Given the description of an element on the screen output the (x, y) to click on. 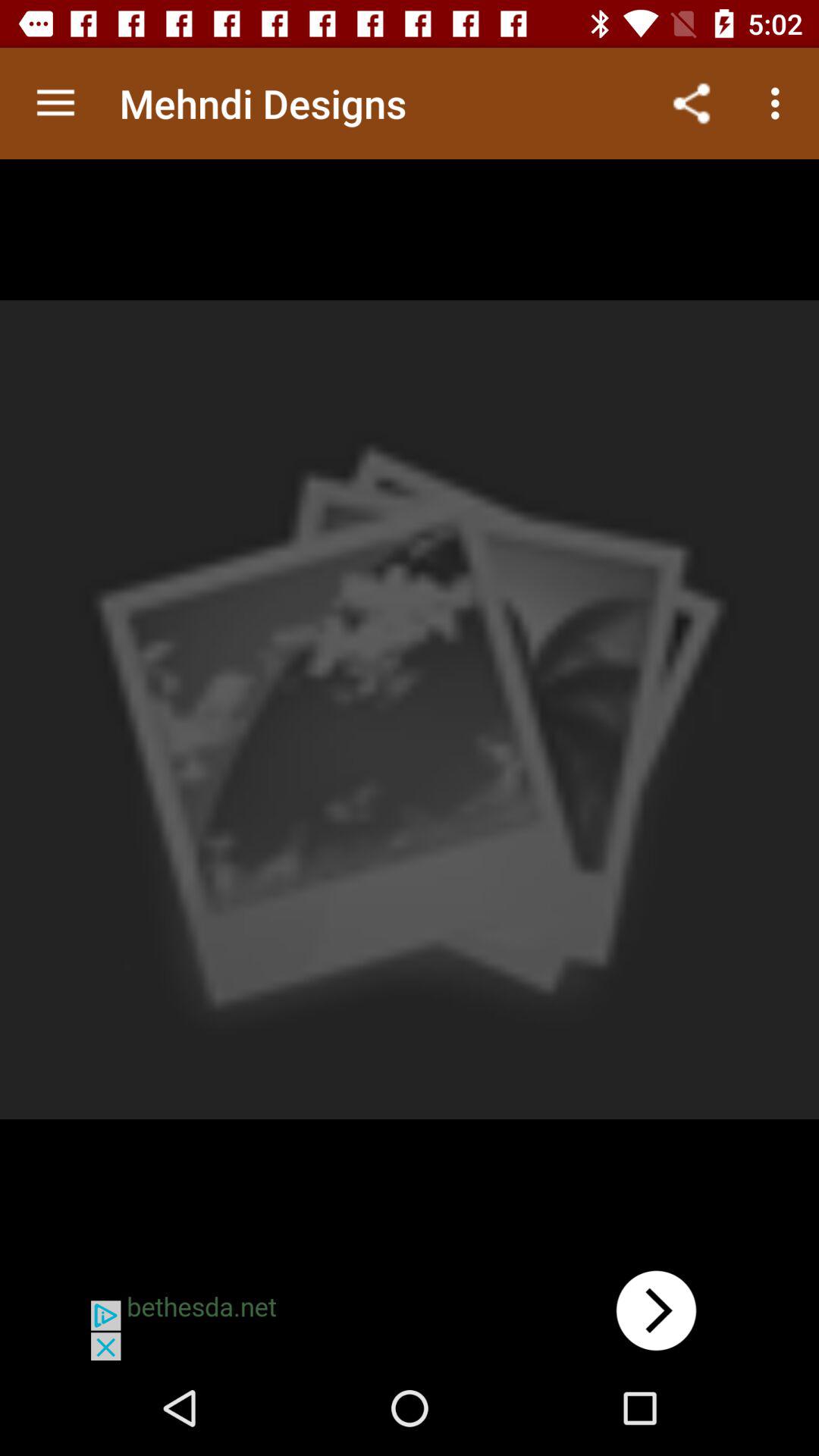
redirects you to offer page (409, 1310)
